Given the description of an element on the screen output the (x, y) to click on. 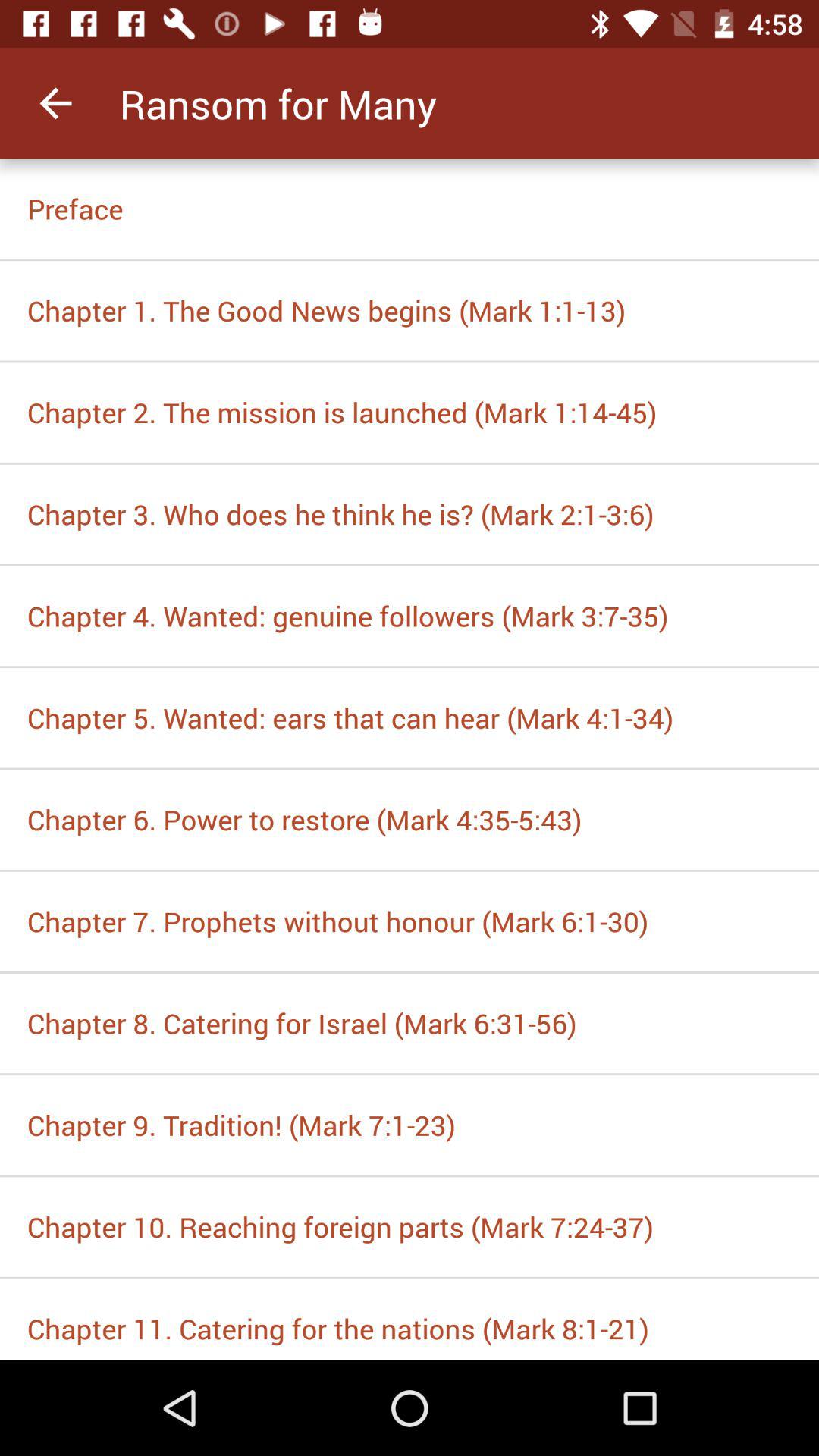
open the item above the chapter 1 the icon (409, 208)
